Given the description of an element on the screen output the (x, y) to click on. 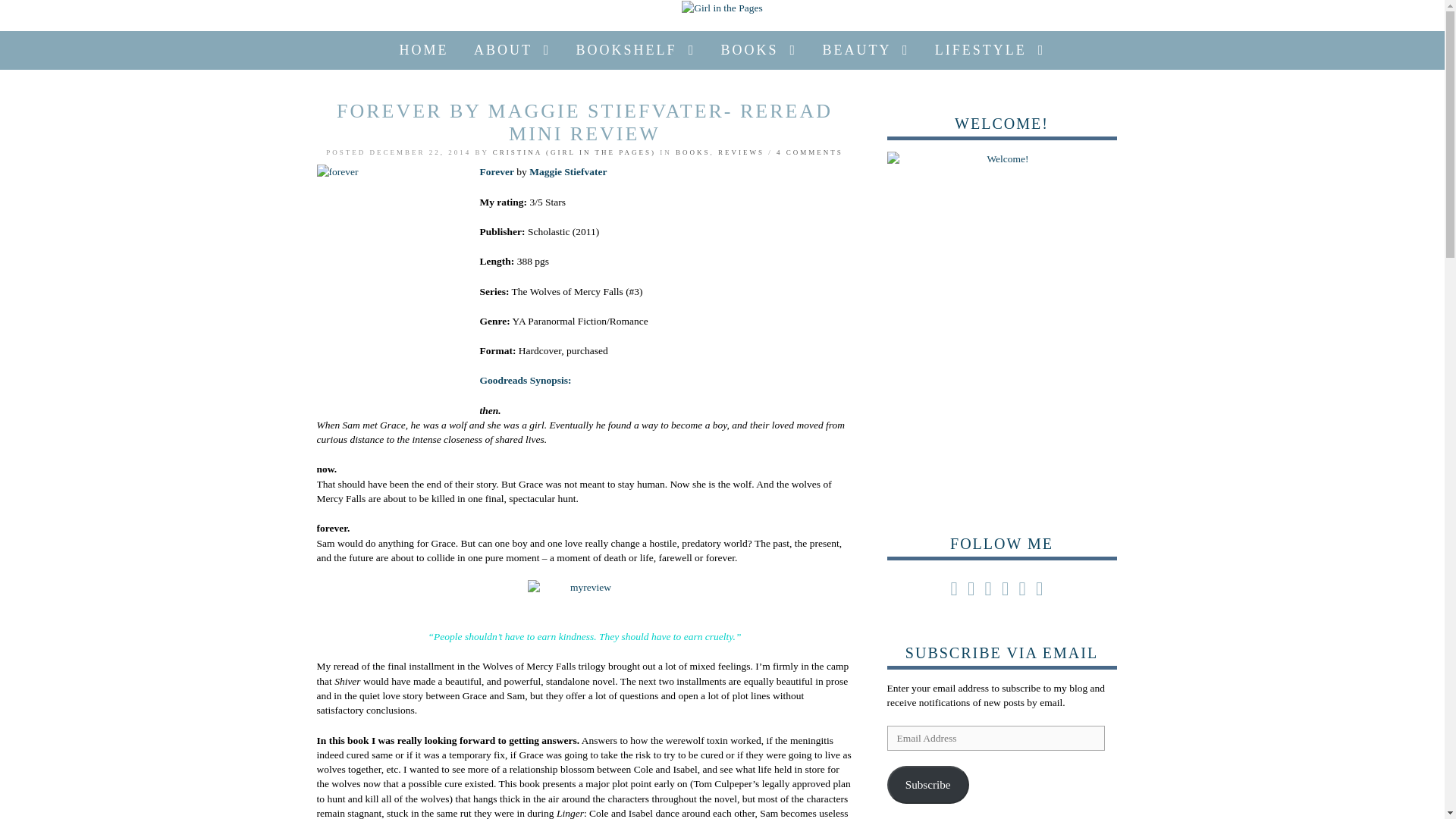
HOME (424, 50)
View all posts in Reviews (740, 152)
BEAUTY   (865, 50)
View all posts in Books (692, 152)
BOOKSHELF   (635, 50)
BOOKS   (759, 50)
ABOUT   (512, 50)
LIFESTYLE   (990, 50)
